Given the description of an element on the screen output the (x, y) to click on. 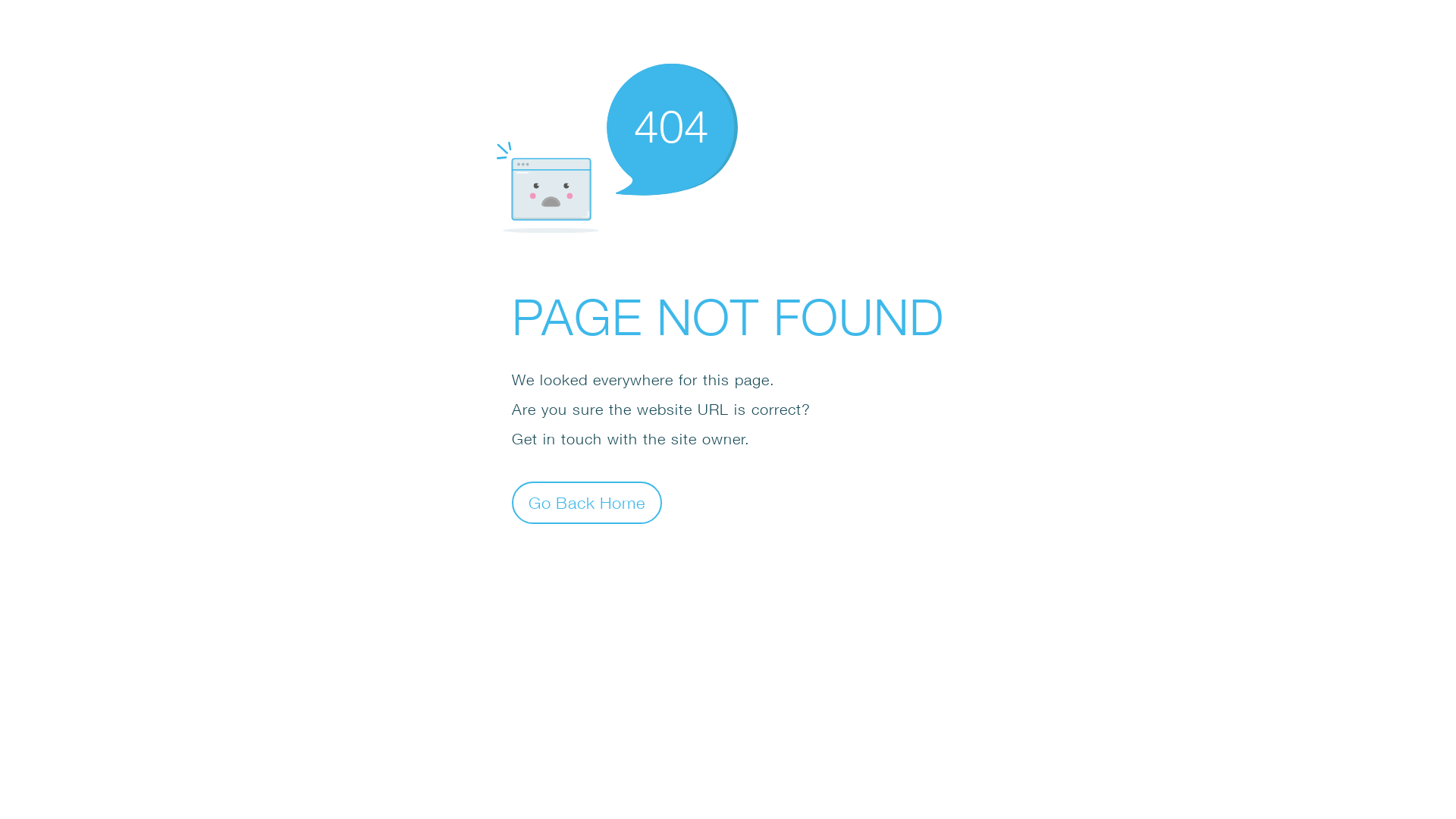
Go Back Home Element type: text (586, 502)
